Given the description of an element on the screen output the (x, y) to click on. 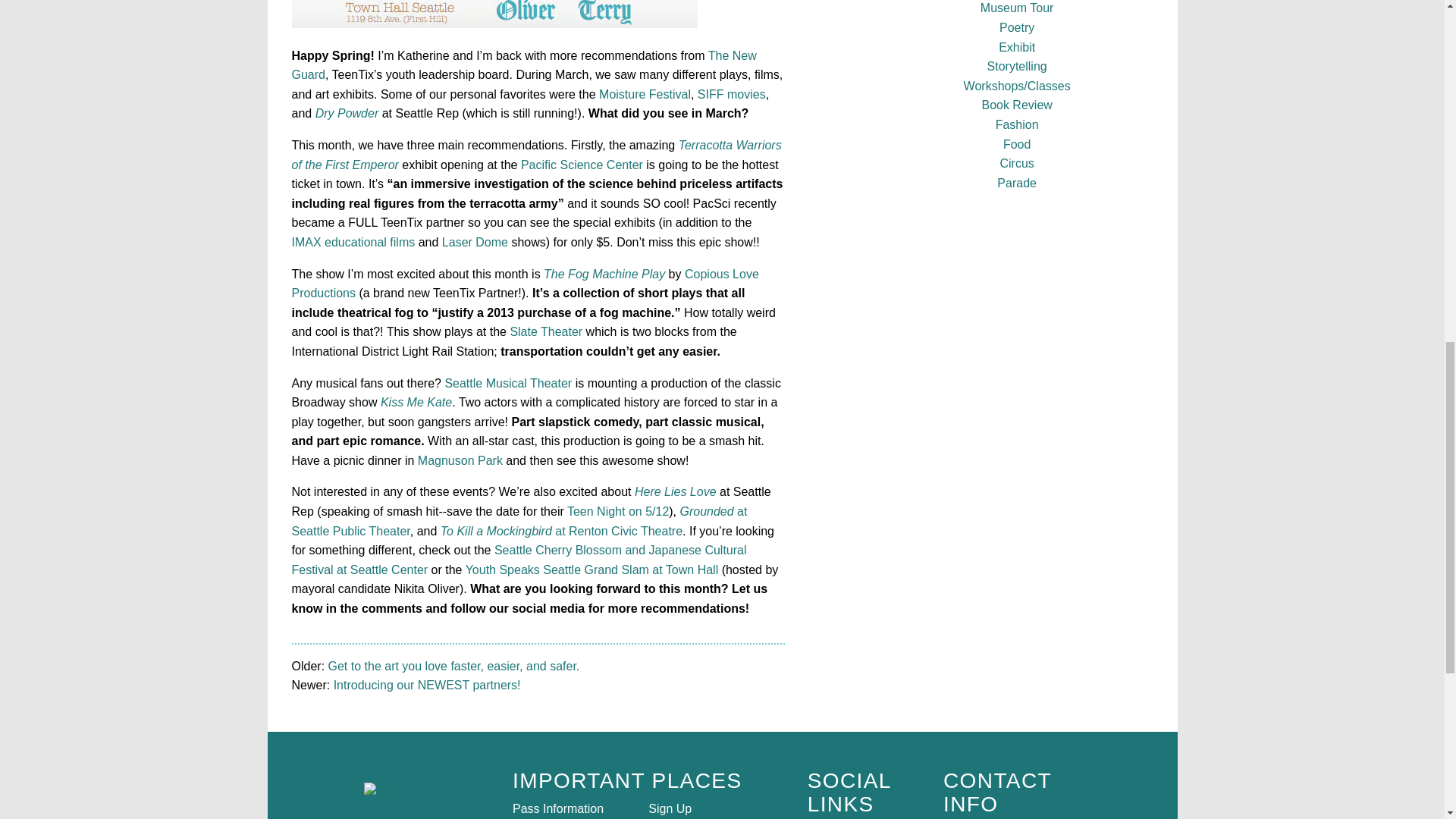
The New Guard (523, 65)
Moisture Festival (644, 93)
SIFF movies (731, 93)
